Given the description of an element on the screen output the (x, y) to click on. 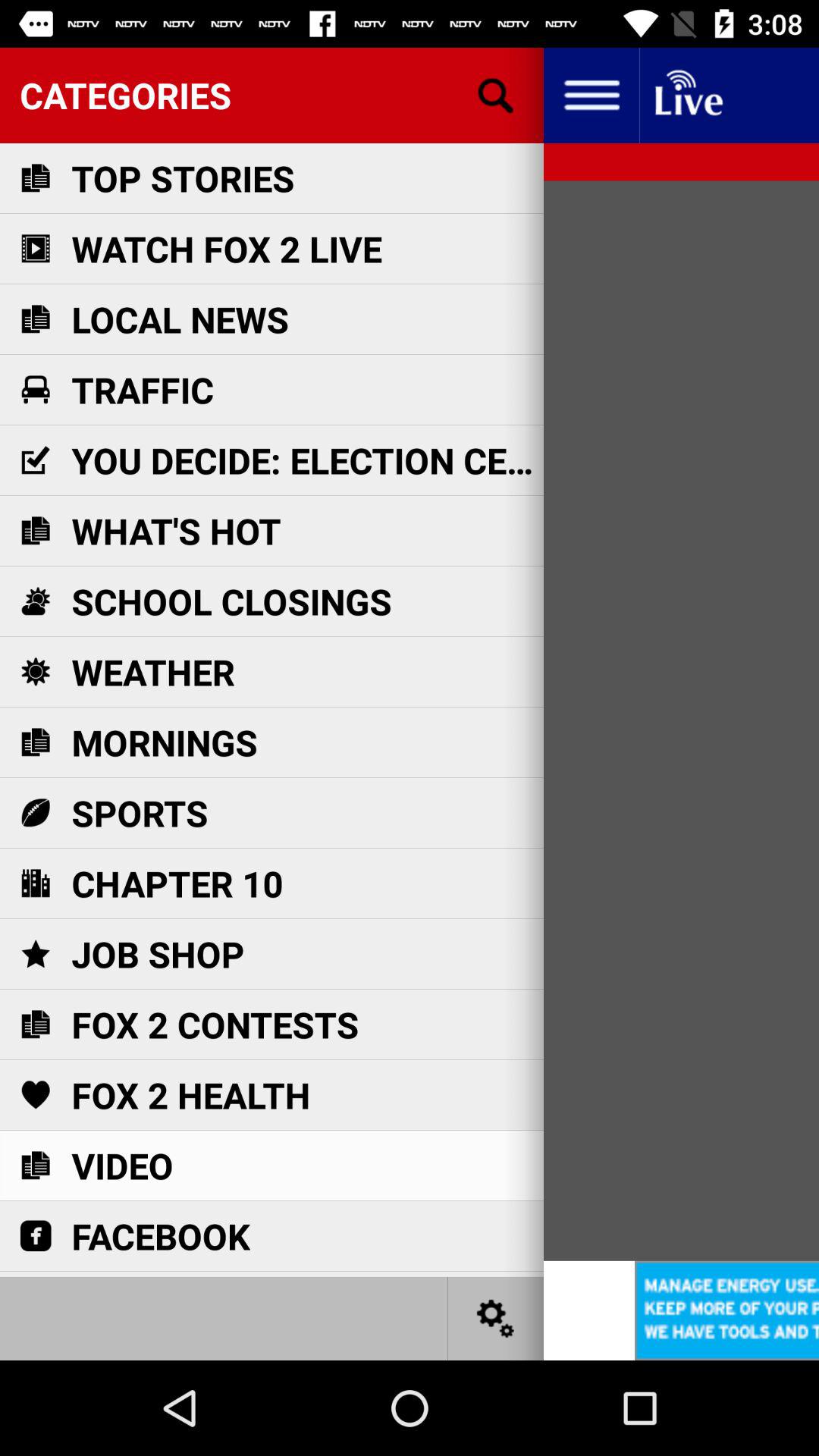
search (495, 95)
